Given the description of an element on the screen output the (x, y) to click on. 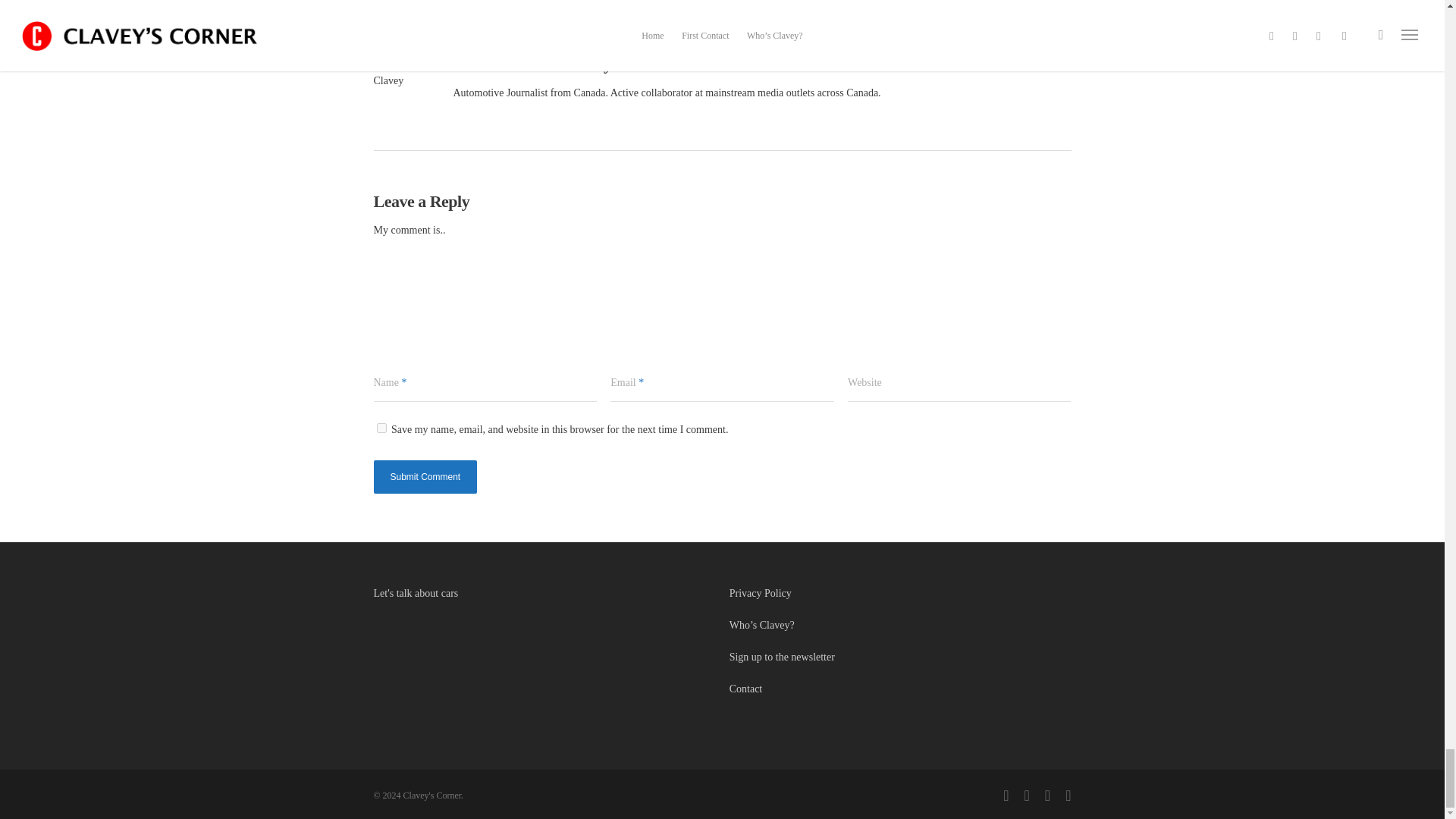
Submit Comment (424, 476)
yes (380, 428)
